Given the description of an element on the screen output the (x, y) to click on. 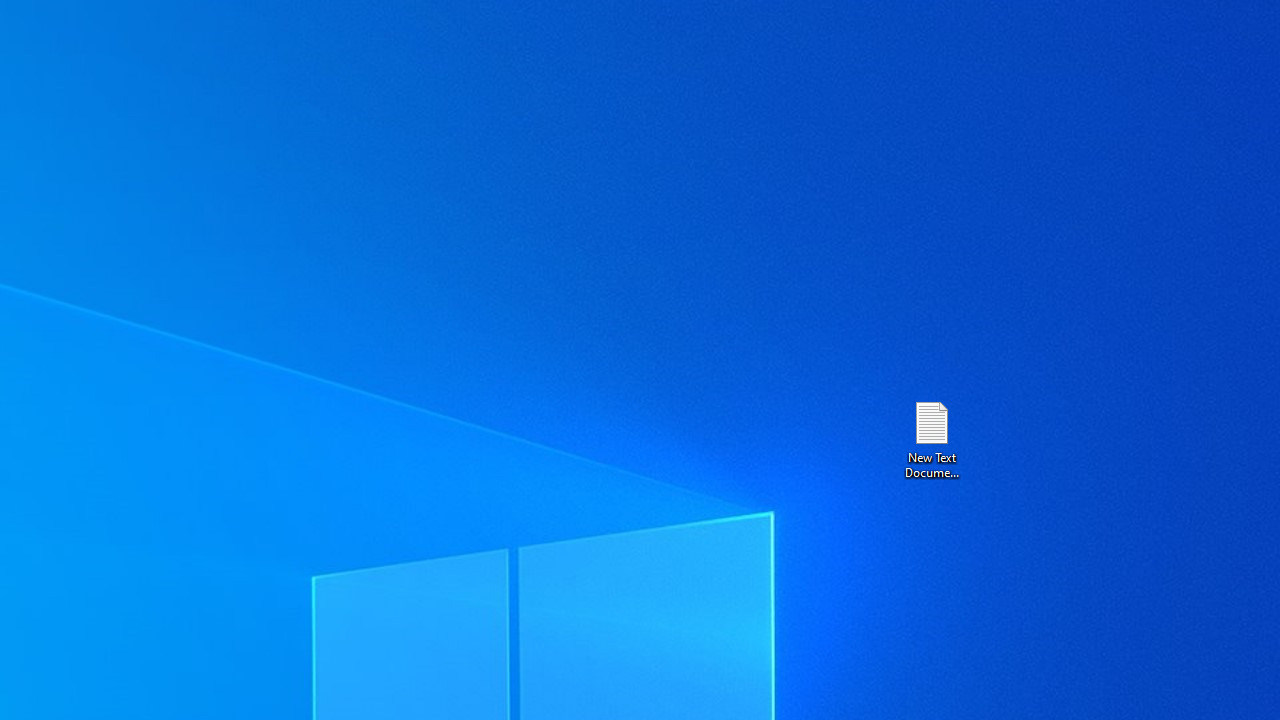
New Text Document (2) (931, 438)
